Given the description of an element on the screen output the (x, y) to click on. 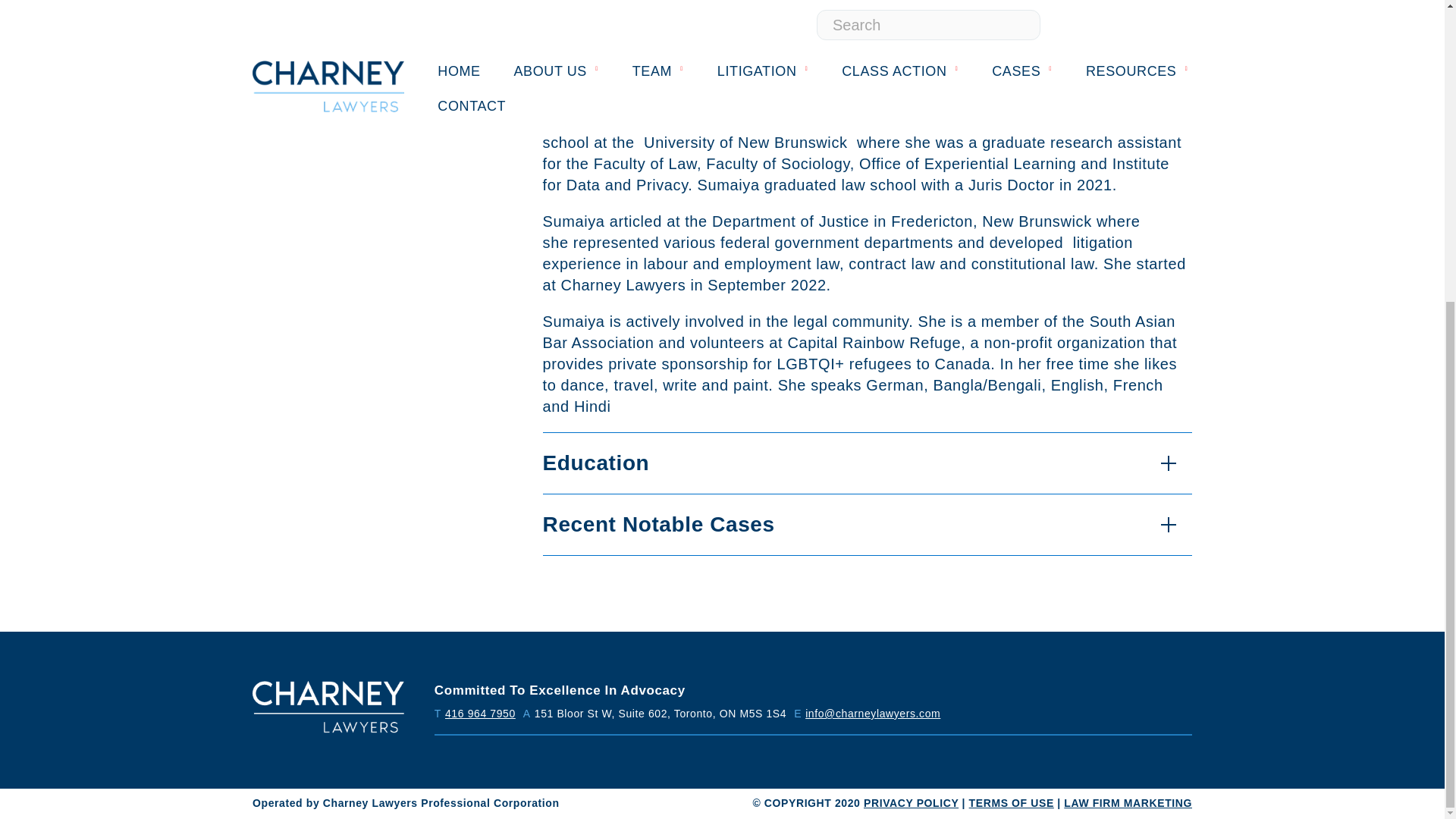
Charney Lawyers (327, 706)
